Given the description of an element on the screen output the (x, y) to click on. 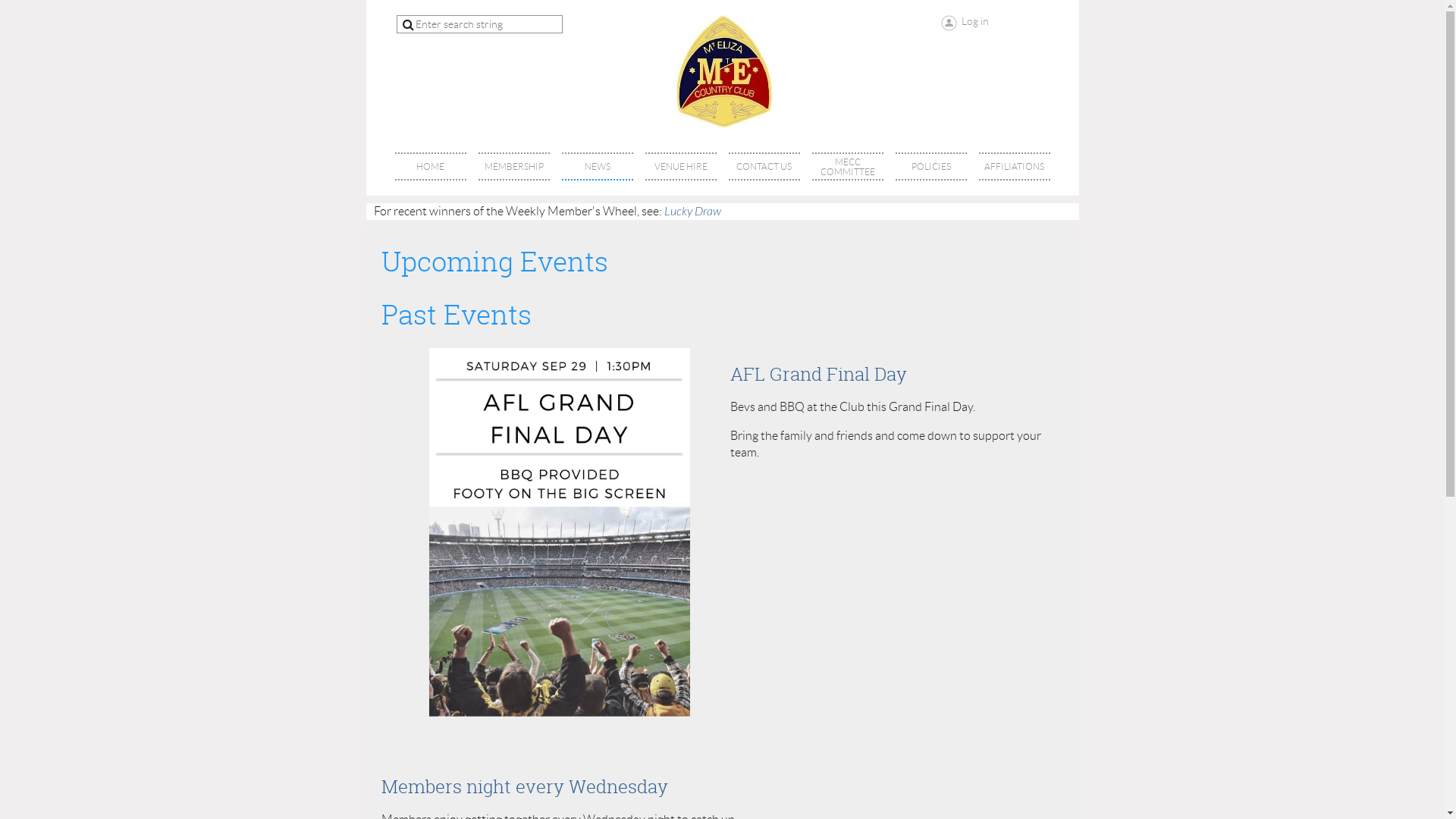
NEWS Element type: text (596, 166)
VENUE HIRE Element type: text (679, 166)
Log in Element type: text (964, 23)
MECC COMMITTEE Element type: text (846, 166)
Lucky Draw Element type: text (692, 211)
CONTACT US Element type: text (763, 166)
POLICIES Element type: text (930, 166)
MEMBERSHIP Element type: text (513, 166)
AFFILIATIONS Element type: text (1013, 166)
HOME Element type: text (429, 166)
